Given the description of an element on the screen output the (x, y) to click on. 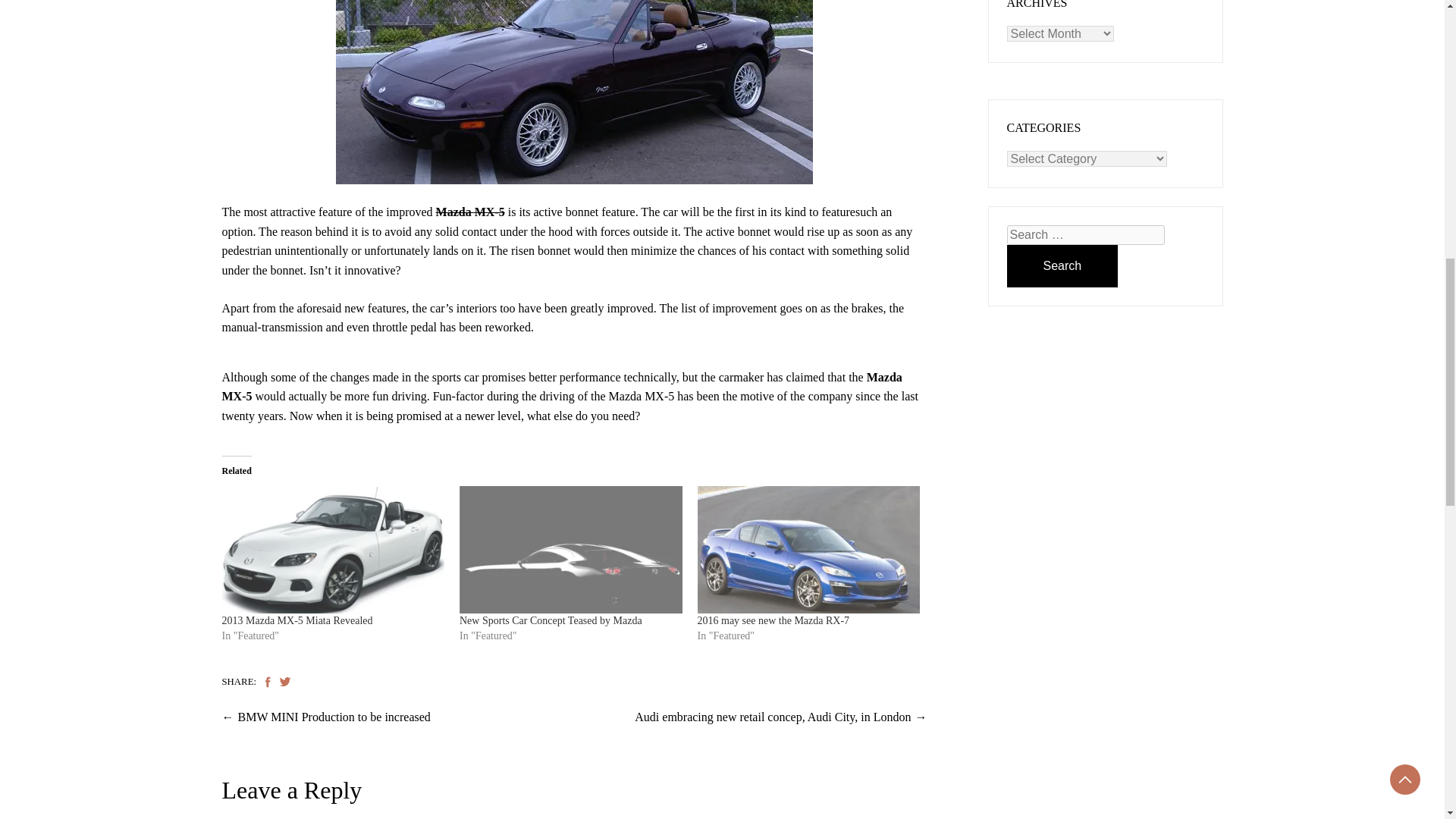
2016 may see new the Mazda RX-7 (808, 549)
2016 may see new the Mazda RX-7 (773, 620)
2013 Mazda MX-5 Miata Revealed (296, 620)
2016 may see new the Mazda RX-7 (773, 620)
Search (1062, 265)
Audi embracing new retail concep, Audi City, in London (772, 716)
Mazda MX-5 (470, 211)
New Sports Car Concept Teased by Mazda (551, 620)
Search (1062, 265)
2013 Mazda MX-5 Miata Revealed (296, 620)
BMW MINI Production to be increased (334, 716)
New Sports Car Concept Teased by Mazda (551, 620)
2013 Mazda MX-5 Miata Revealed (470, 211)
2013 Mazda MX-5 Miata Revealed (332, 549)
